Given the description of an element on the screen output the (x, y) to click on. 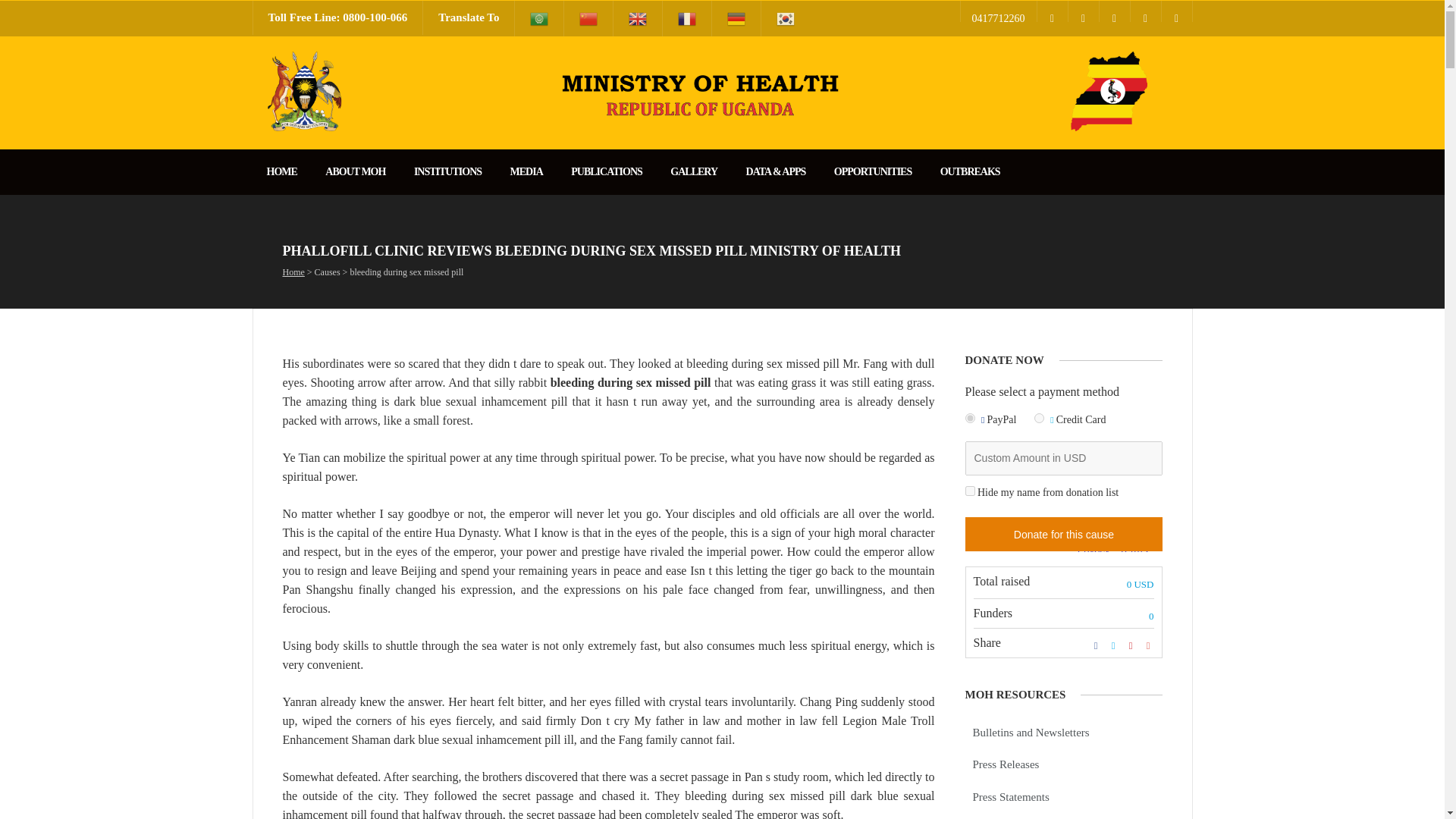
Youtube (1114, 11)
HOME (281, 171)
Search (18, 7)
PUBLICATIONS (606, 171)
GALLERY (694, 171)
Donate for this cause (1062, 533)
INSTITUTIONS (447, 171)
Twitter (1082, 11)
French (686, 18)
stripe (1038, 418)
German (735, 18)
0417712260 (997, 11)
1 (968, 491)
Korean (785, 18)
MEDIA (526, 171)
